Given the description of an element on the screen output the (x, y) to click on. 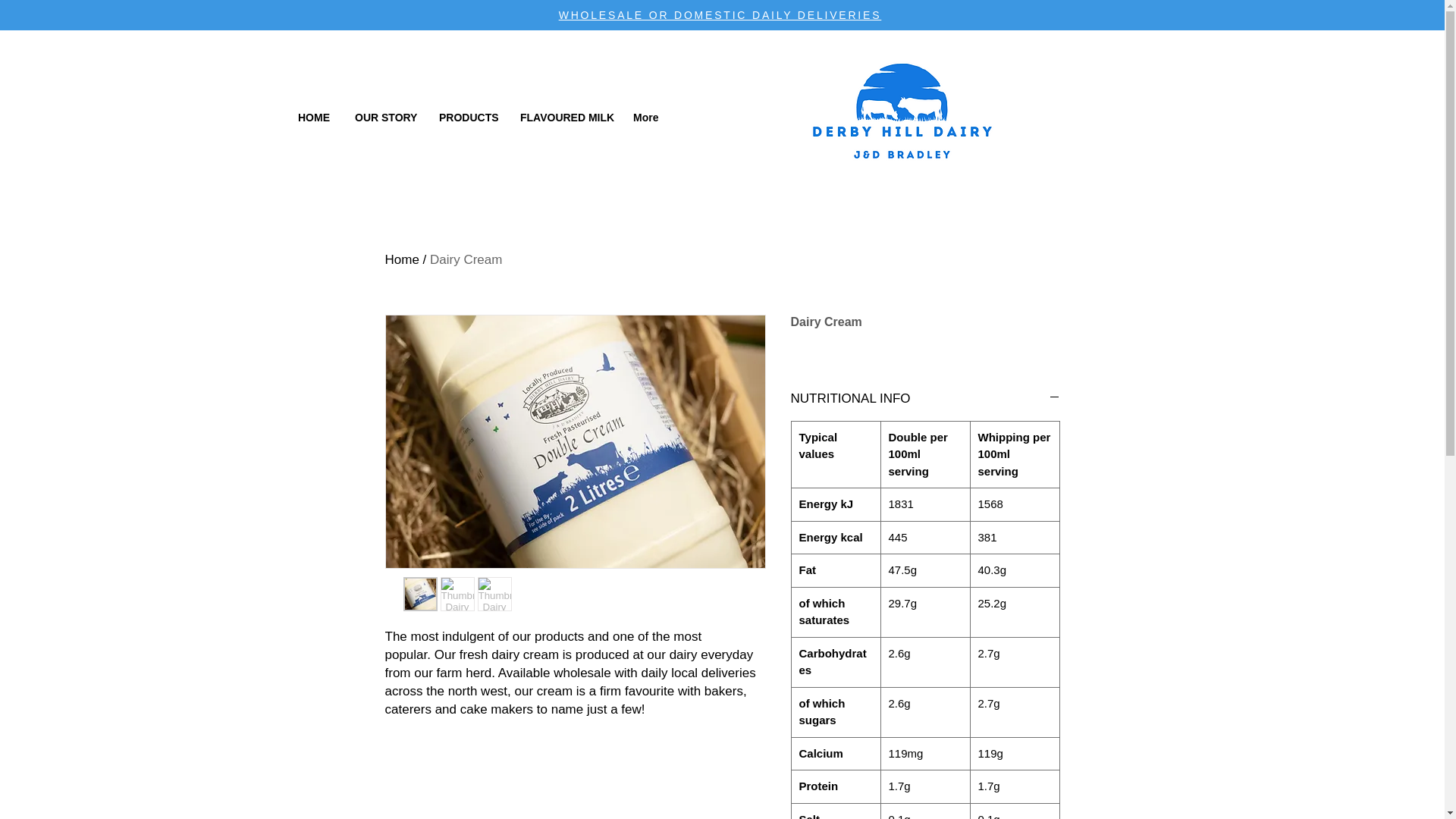
OUR STORY (385, 117)
Home (402, 259)
WHOLESALE OR DOMESTIC DAILY DELIVERIES (720, 15)
FLAVOURED MILK (564, 117)
MASTHEAD IDEA 1.png (901, 117)
HOME (314, 117)
NUTRITIONAL INFO (924, 398)
PRODUCTS (468, 117)
Dairy Cream (465, 259)
